Given the description of an element on the screen output the (x, y) to click on. 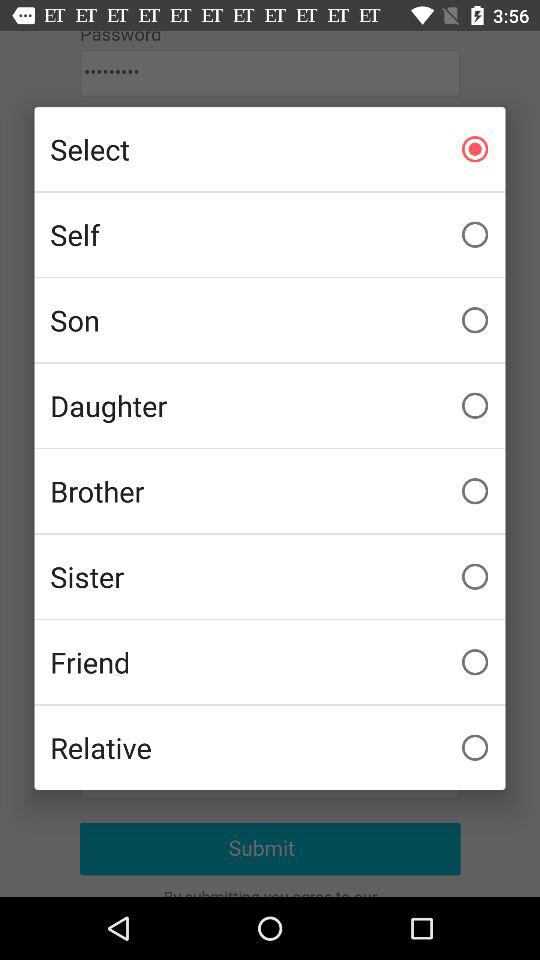
jump until sister (269, 576)
